Given the description of an element on the screen output the (x, y) to click on. 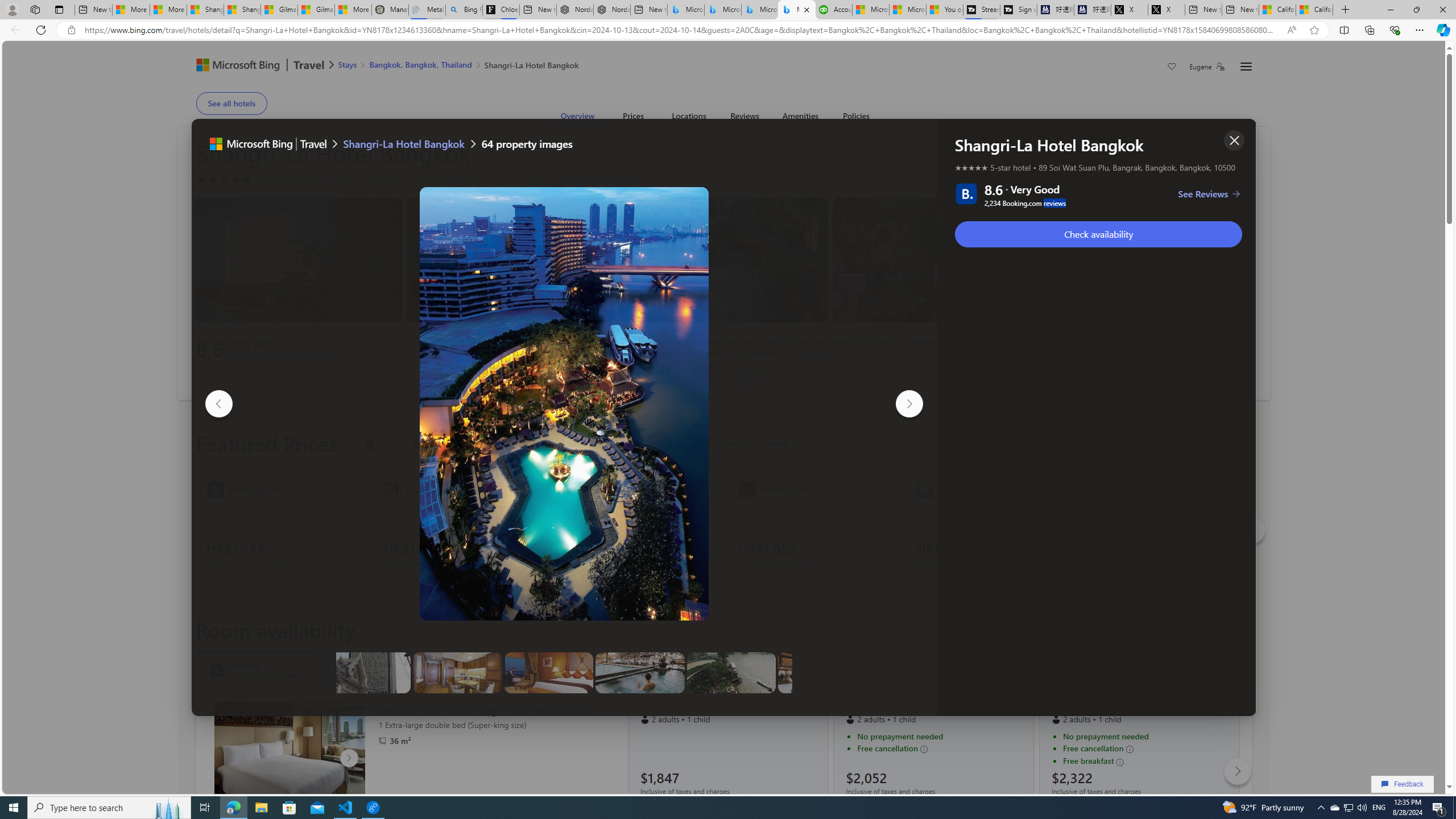
Streaming Coverage | T3 (981, 9)
X (1165, 9)
Microsoft Bing Travel - Shangri-La Hotel Bangkok (796, 9)
